Given the description of an element on the screen output the (x, y) to click on. 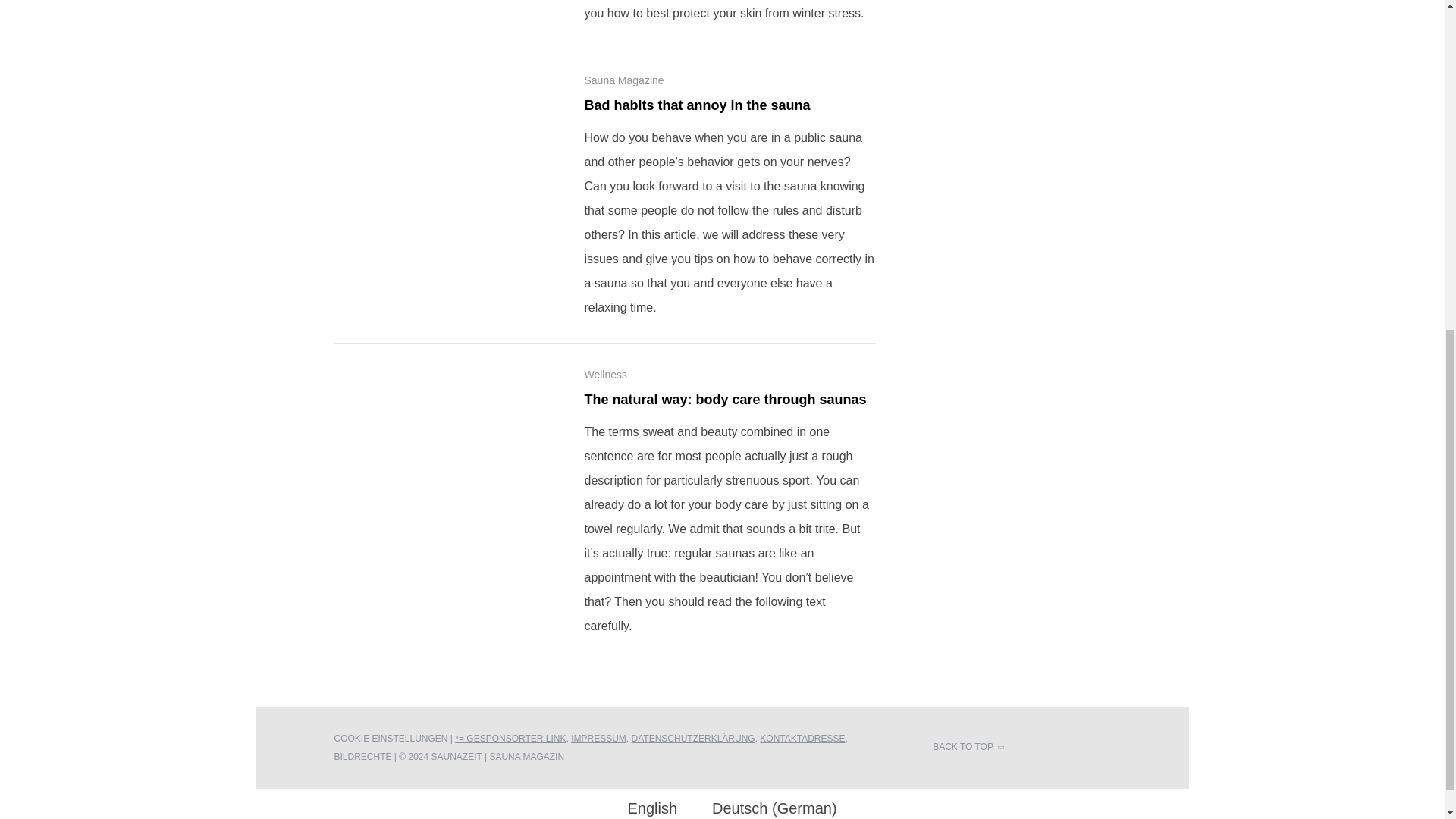
Bad habits that annoy in the sauna (446, 149)
Braving the winter weather: Tips for healthy skin (446, 2)
The natural way: body care through saunas (446, 442)
